Given the description of an element on the screen output the (x, y) to click on. 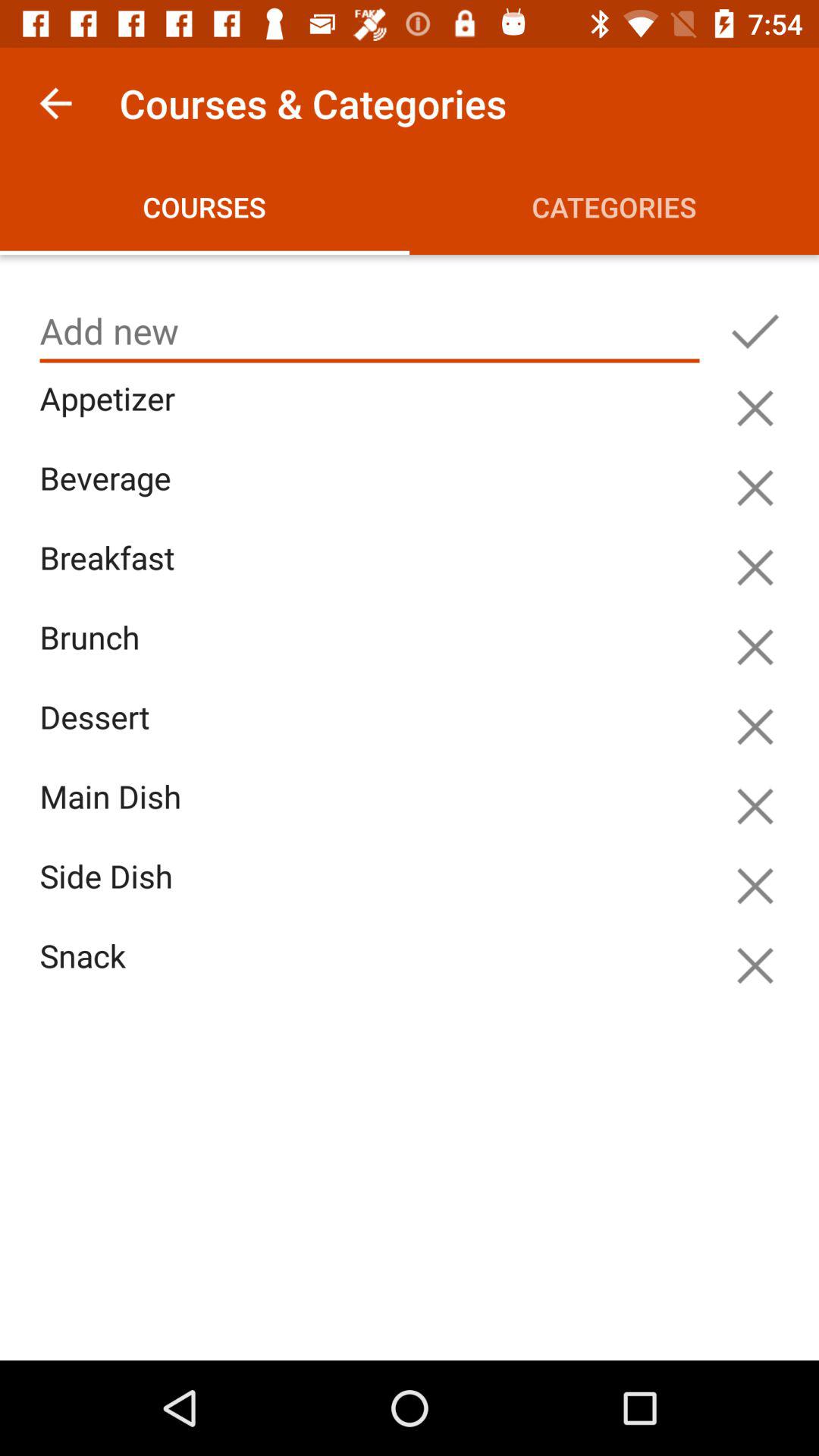
swipe until the snack icon (373, 973)
